Given the description of an element on the screen output the (x, y) to click on. 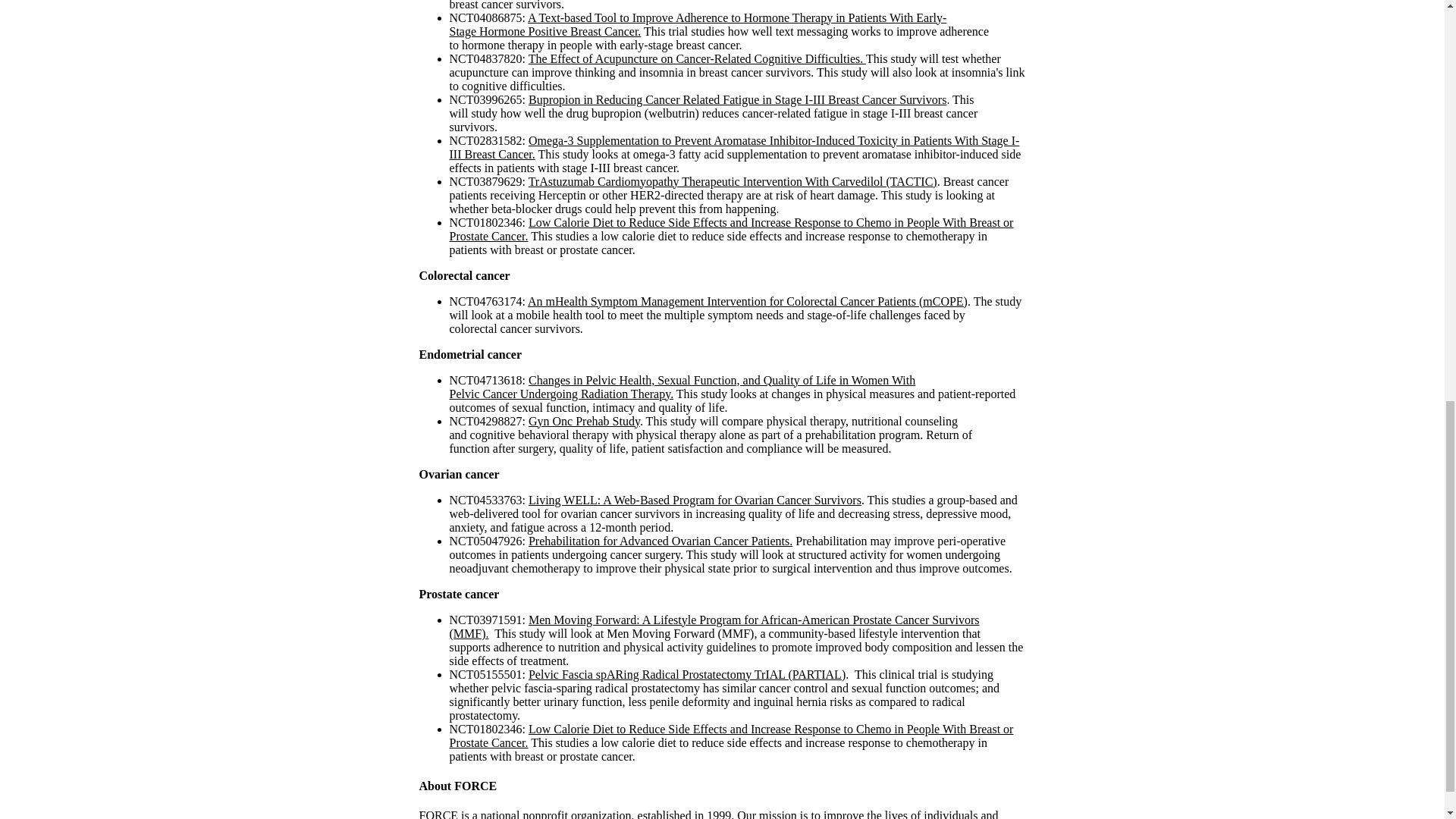
Prehabilitation for Advanced Ovarian Cancer Patients. (660, 540)
Gyn Onc Prehab Study (584, 420)
